Given the description of an element on the screen output the (x, y) to click on. 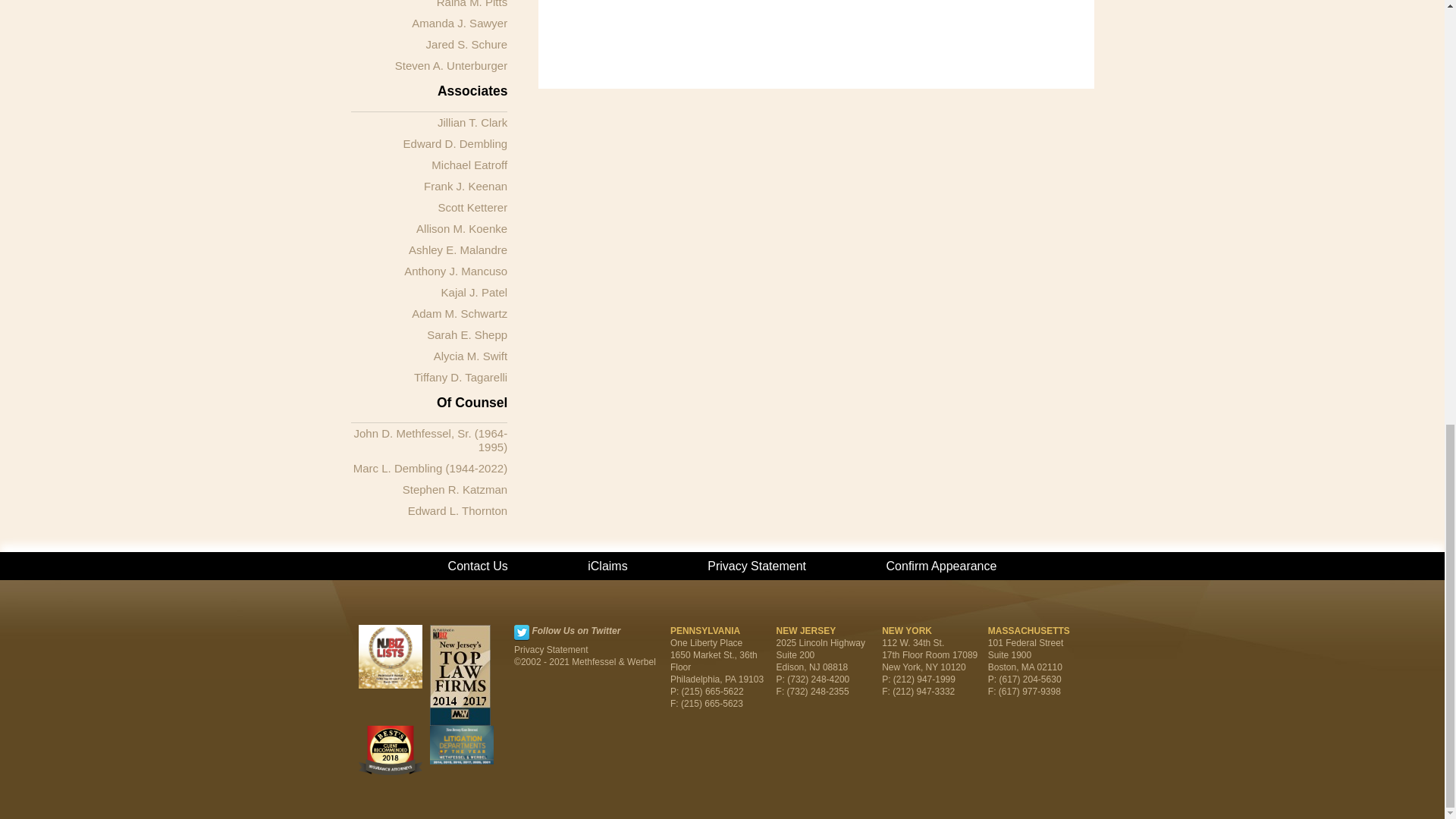
Raina M. Pitts (471, 4)
